Given the description of an element on the screen output the (x, y) to click on. 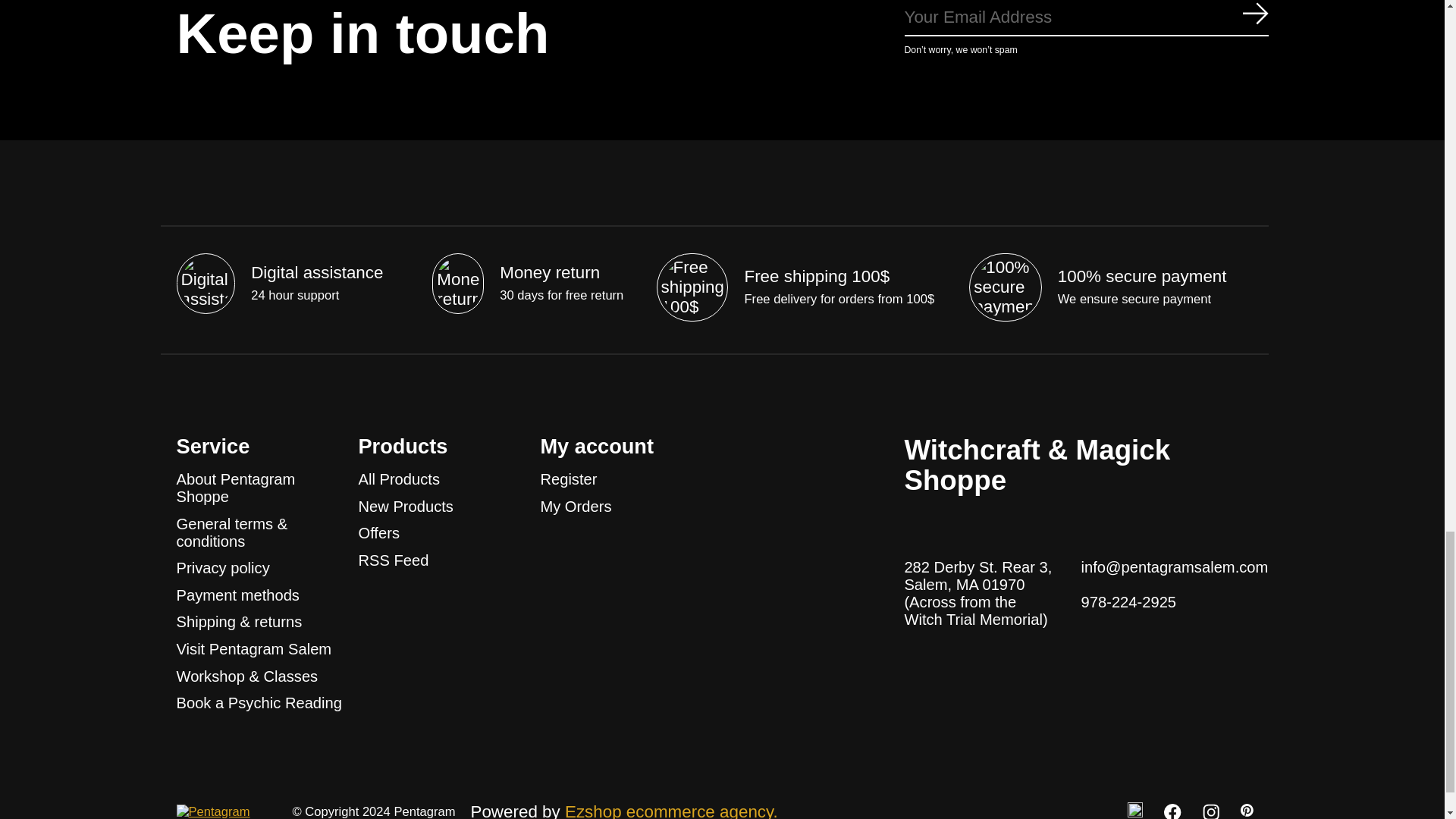
Book a Psychic Reading (258, 702)
My Orders (575, 506)
Privacy policy (222, 567)
New Products (405, 506)
About Pentagram Shoppe (235, 487)
Visit Pentagram Salem (253, 648)
Register (568, 478)
Offers (378, 532)
All Products (398, 478)
Payment methods (237, 595)
RSS Feed (393, 560)
